Given the description of an element on the screen output the (x, y) to click on. 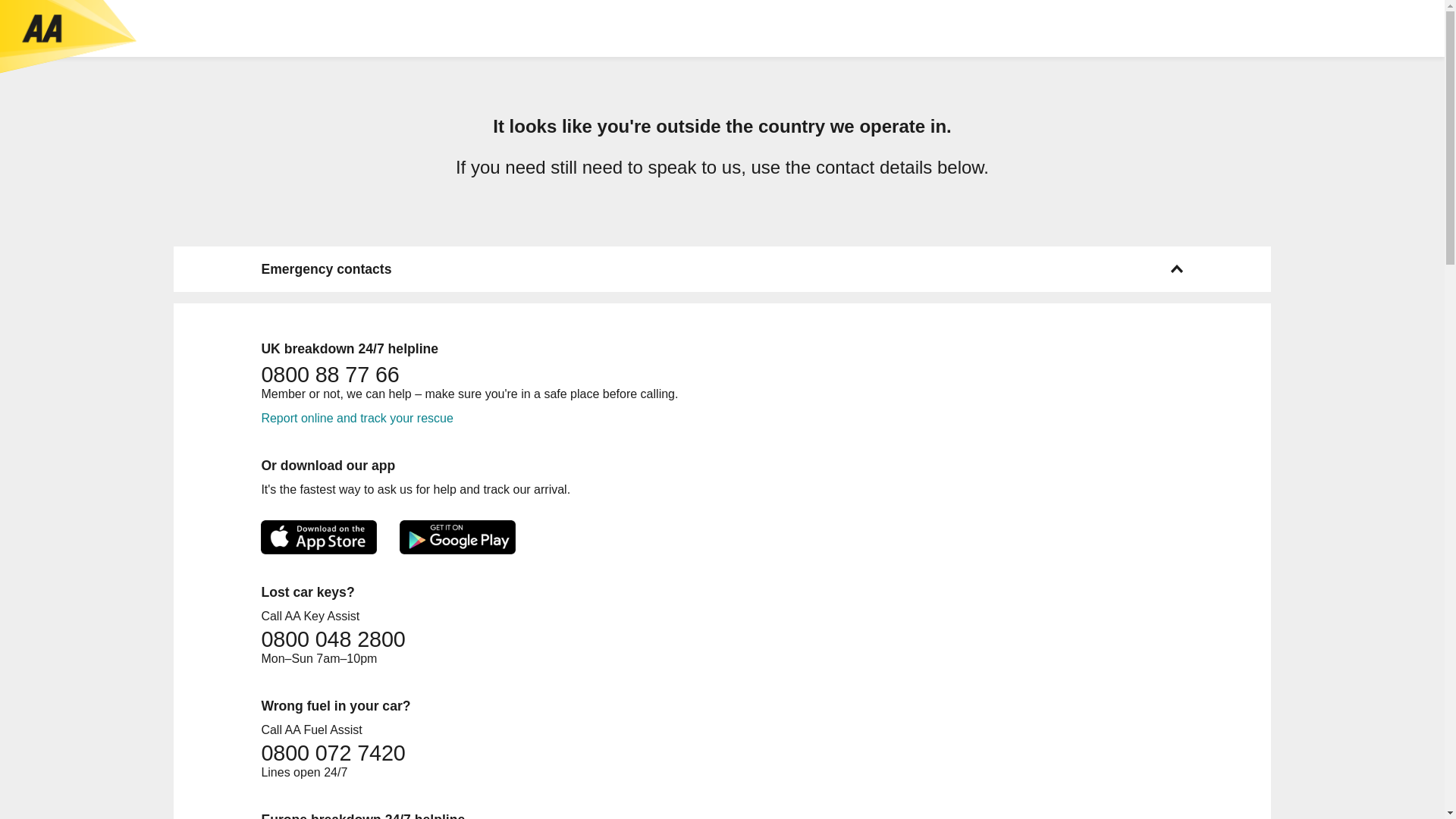
Report online and track your rescue (356, 418)
